Given the description of an element on the screen output the (x, y) to click on. 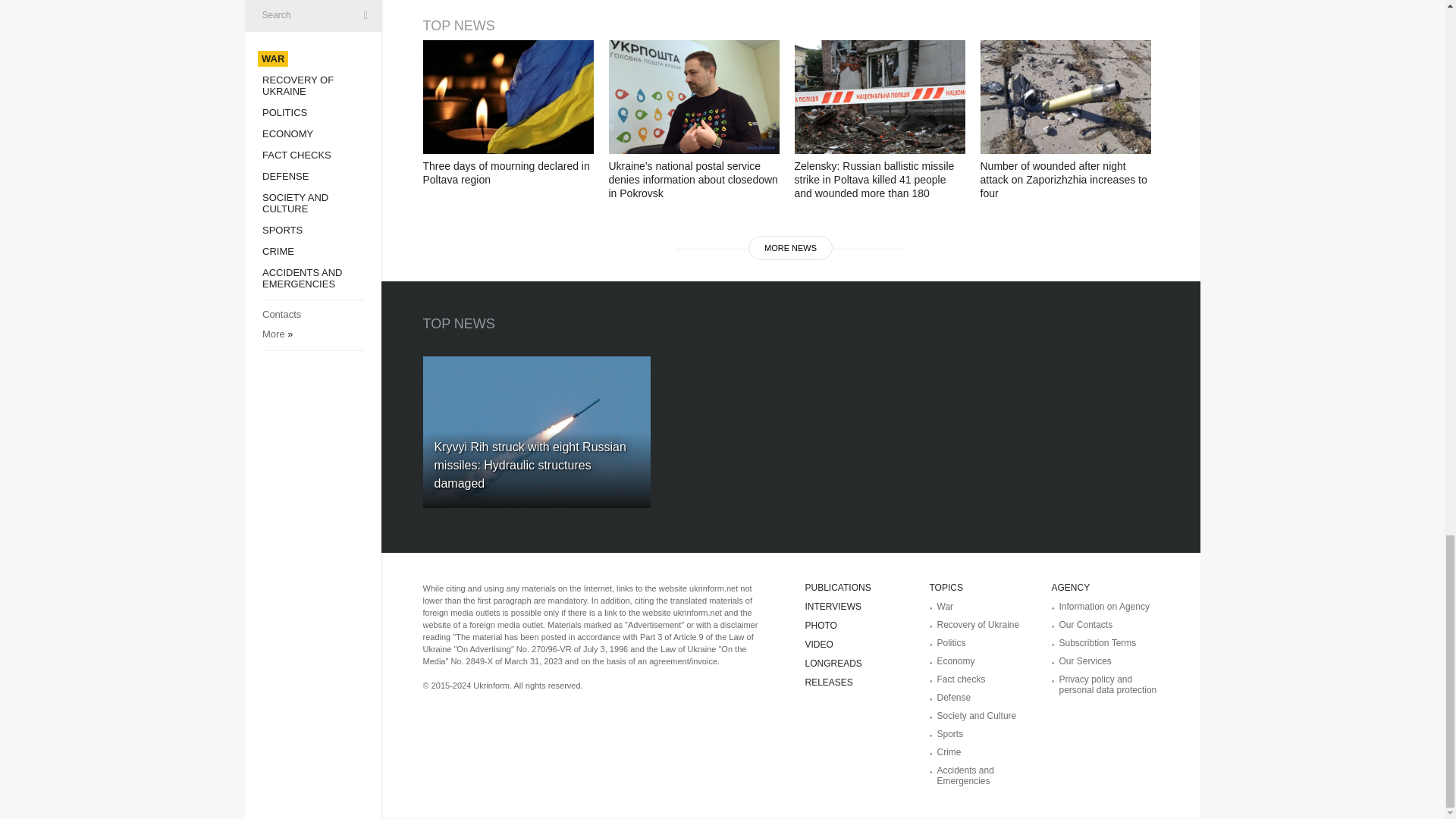
Three days of mourning declared in Poltava region (508, 96)
